Given the description of an element on the screen output the (x, y) to click on. 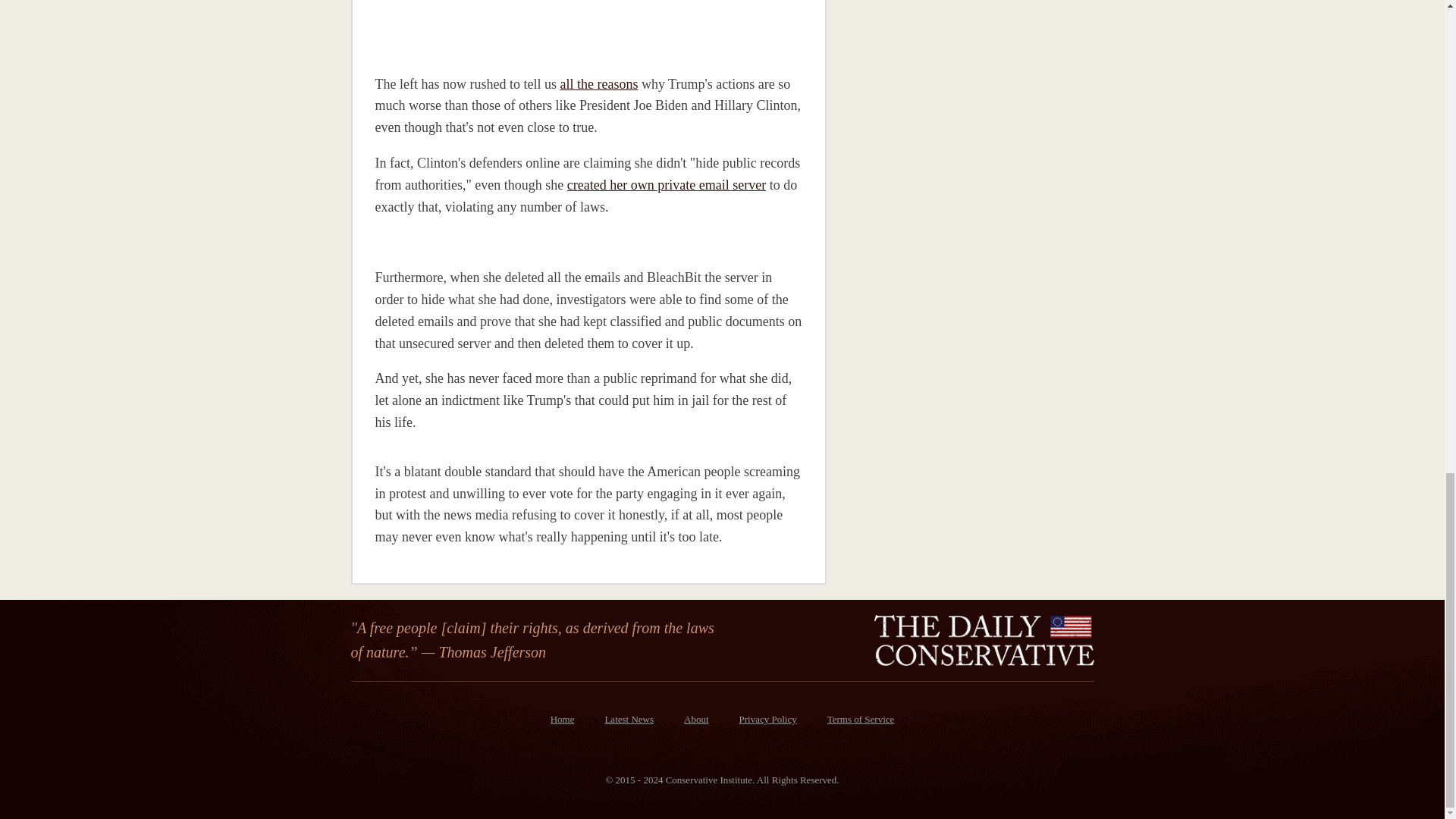
Latest News (628, 719)
Privacy Policy (767, 719)
Terms of Service (861, 719)
all the reasons (598, 83)
Home (562, 719)
created her own private email server (666, 184)
About (695, 719)
Advertisement (954, 57)
Advertisement (480, 26)
